Given the description of an element on the screen output the (x, y) to click on. 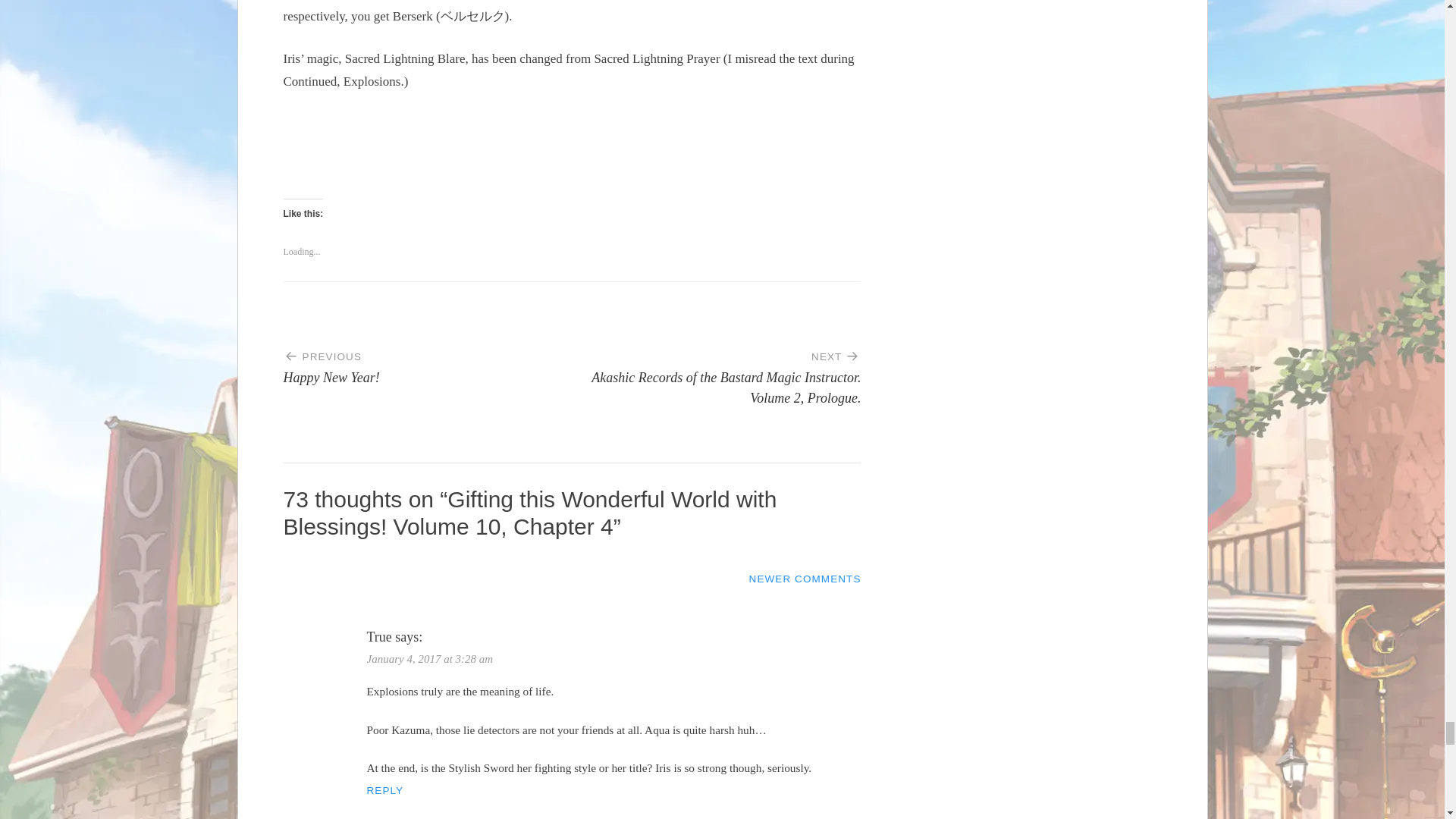
NEWER COMMENTS (427, 361)
January 4, 2017 at 3:28 am (805, 578)
REPLY (429, 658)
